Given the description of an element on the screen output the (x, y) to click on. 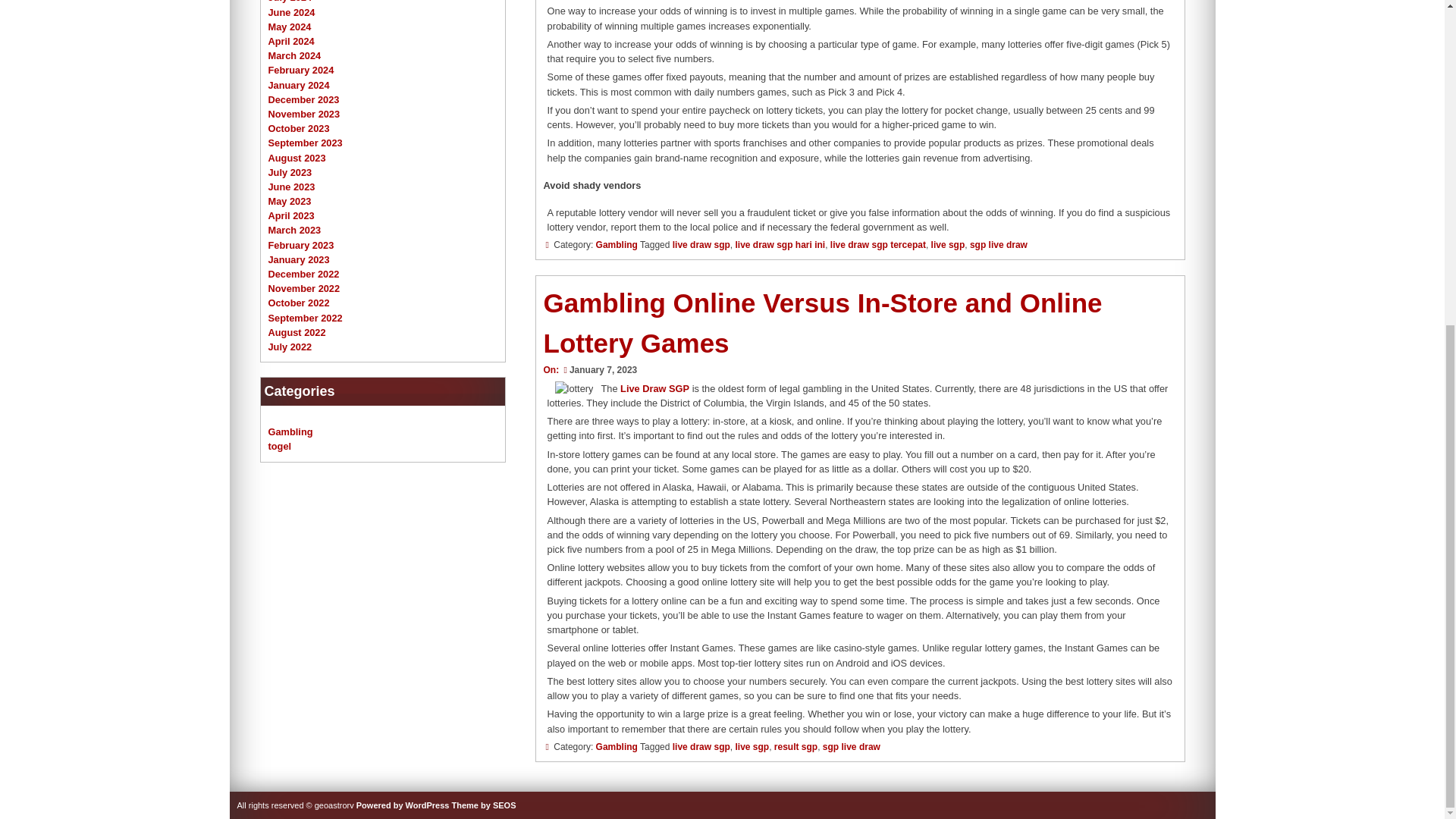
September 2023 (304, 142)
live sgp (948, 244)
March 2024 (294, 55)
December 2023 (303, 99)
October 2023 (298, 128)
January 2024 (298, 84)
June 2024 (291, 12)
April 2024 (290, 41)
live draw sgp (701, 747)
February 2024 (300, 70)
November 2023 (303, 113)
Gambling (616, 747)
Gambling Online Versus In-Store and Online Lottery Games (822, 322)
live sgp (751, 747)
live draw sgp (701, 244)
